Given the description of an element on the screen output the (x, y) to click on. 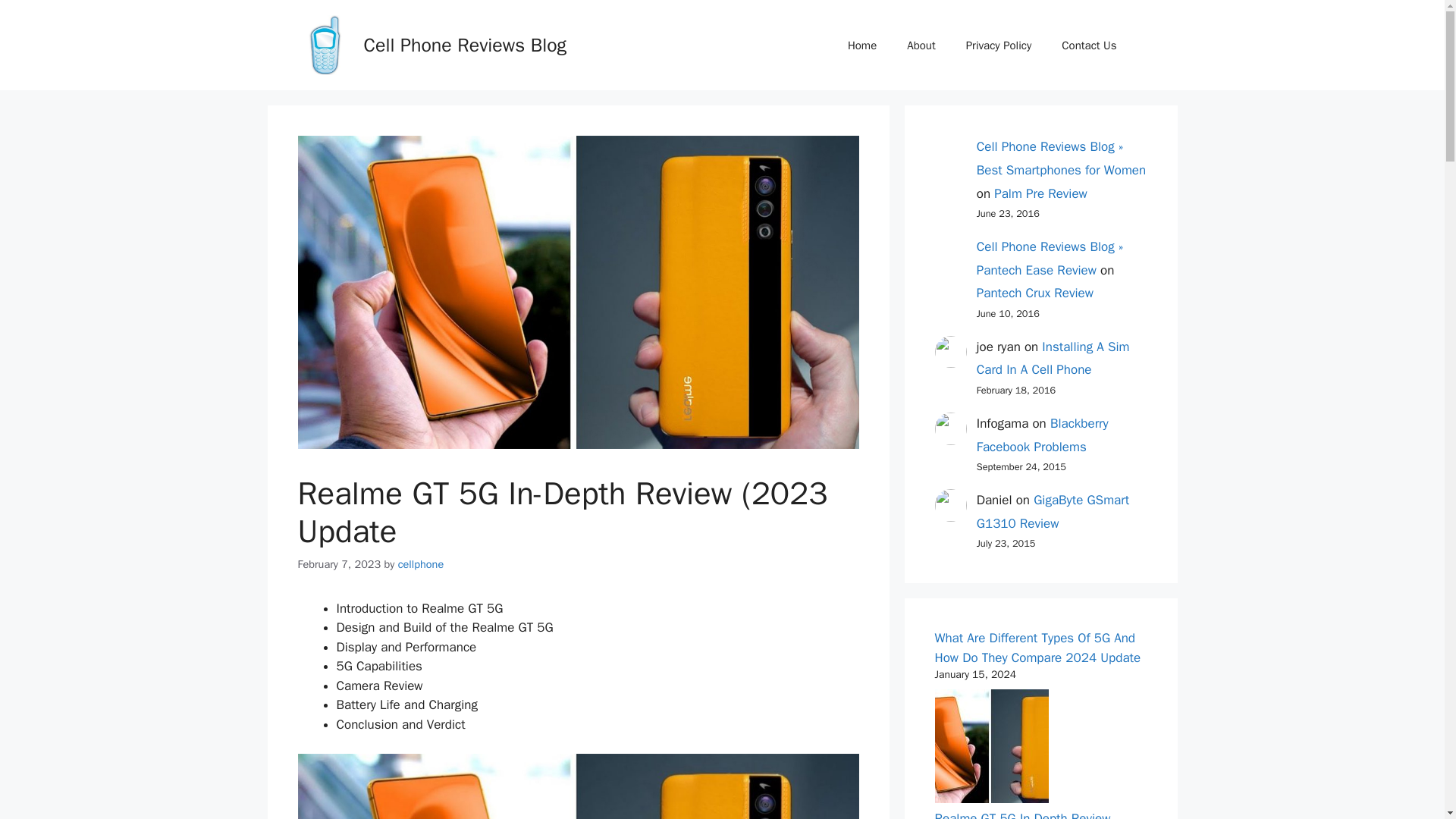
Privacy Policy (998, 44)
Cell Phone Reviews Blog (465, 44)
Pantech Crux Review (1034, 293)
GigaByte GSmart G1310 Review (1052, 511)
cellphone (420, 563)
Contact Us (1088, 44)
View all posts by cellphone (420, 563)
Palm Pre Review (1040, 193)
Blackberry Facebook Problems (1042, 435)
